Given the description of an element on the screen output the (x, y) to click on. 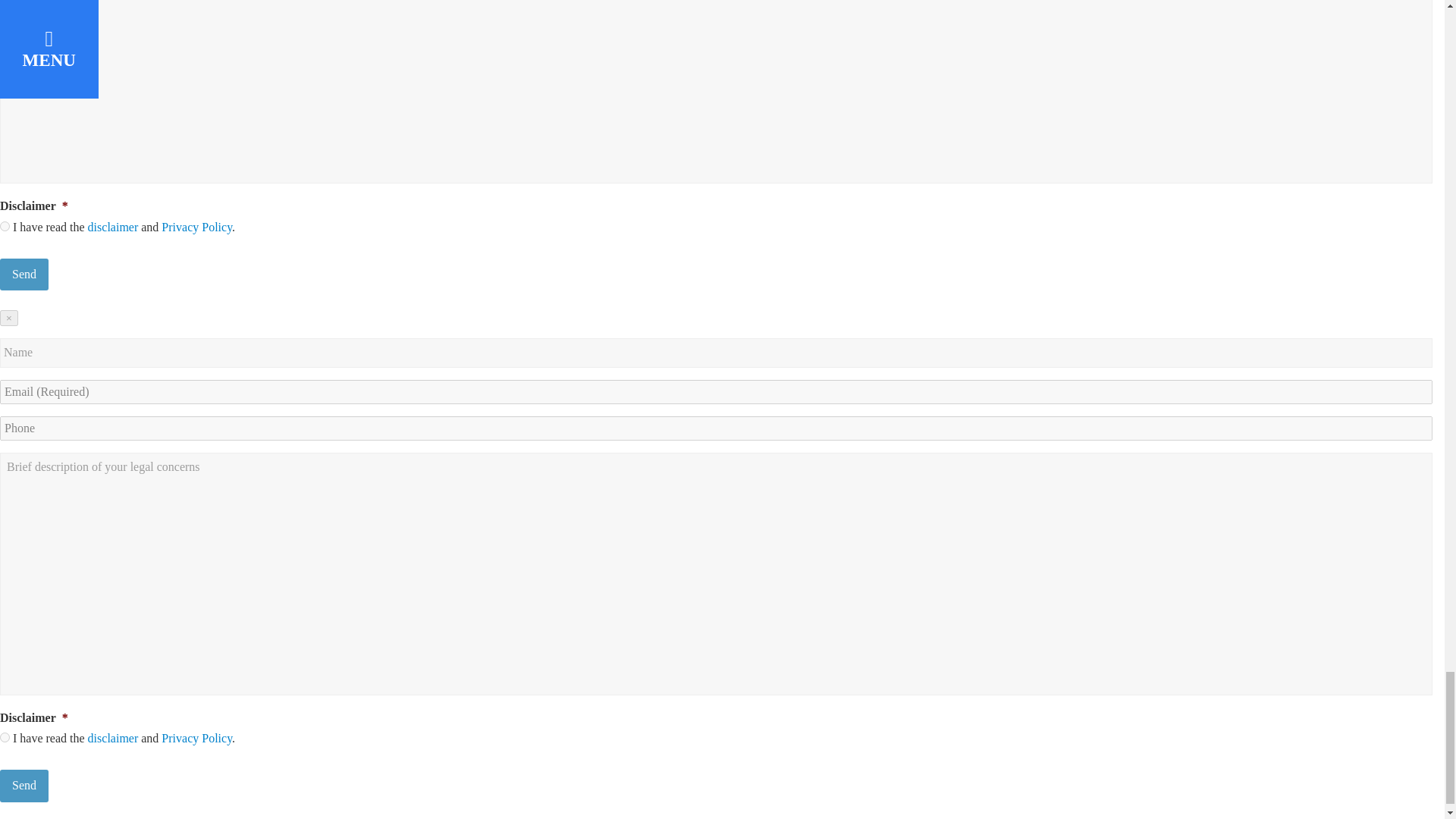
Send (24, 274)
